Given the description of an element on the screen output the (x, y) to click on. 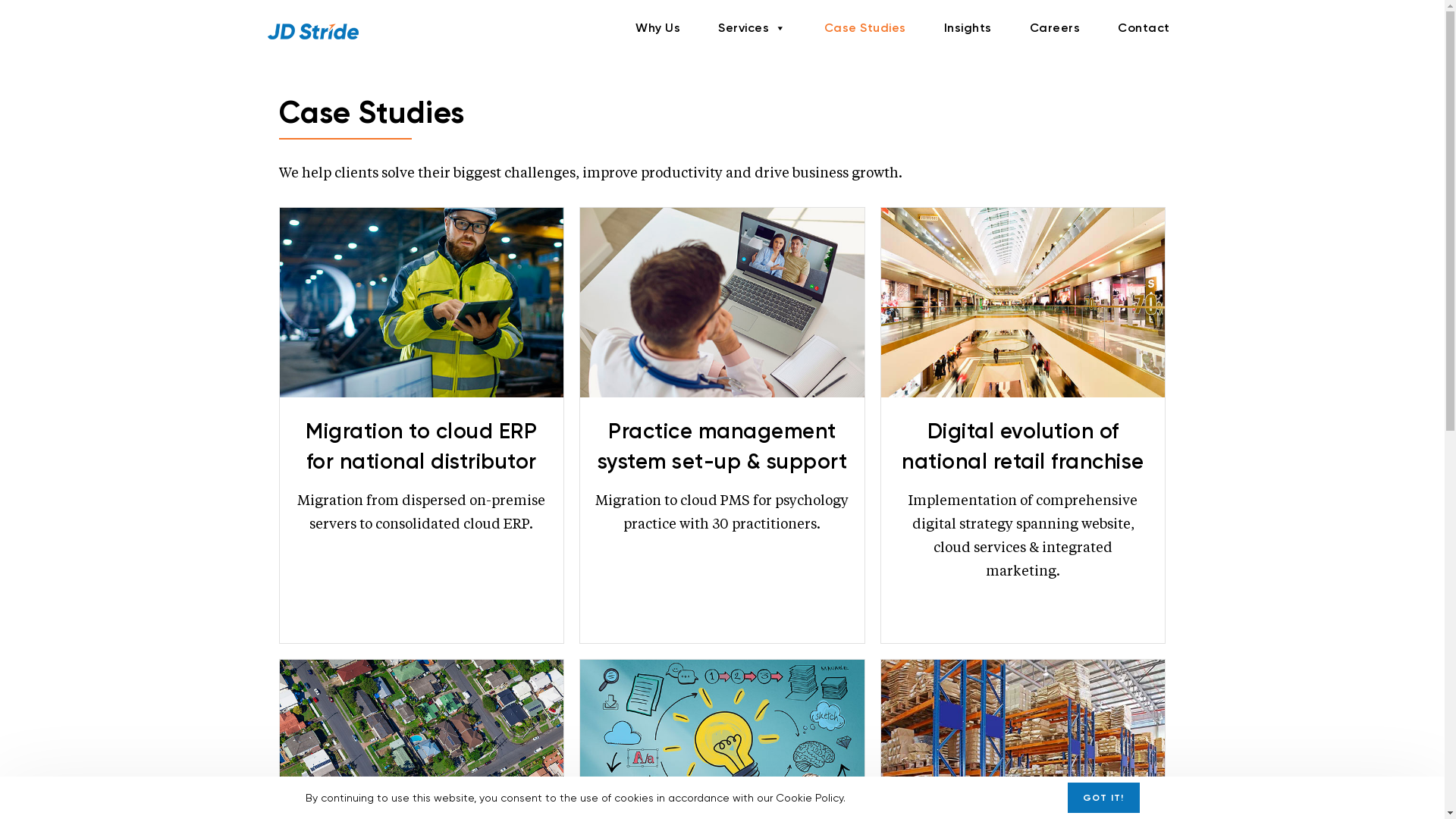
Cookie Policy Element type: text (808, 797)
Migration to cloud ERP for national distributor Element type: hover (421, 302)
Digital evolution of national retail franchise Element type: text (1022, 445)
Digital evolution of national retail franchise Element type: hover (1023, 302)
Insights Element type: text (967, 28)
Contact Element type: text (1143, 28)
GOT IT! Element type: text (1103, 797)
Practice management system set-up & support Element type: text (722, 445)
Practice management system set-up & support Element type: hover (722, 302)
Why Us Element type: text (657, 28)
Careers Element type: text (1054, 28)
Services Element type: text (752, 28)
Migration to cloud ERP for national distributor Element type: text (420, 445)
Case Studies Element type: text (865, 28)
